Given the description of an element on the screen output the (x, y) to click on. 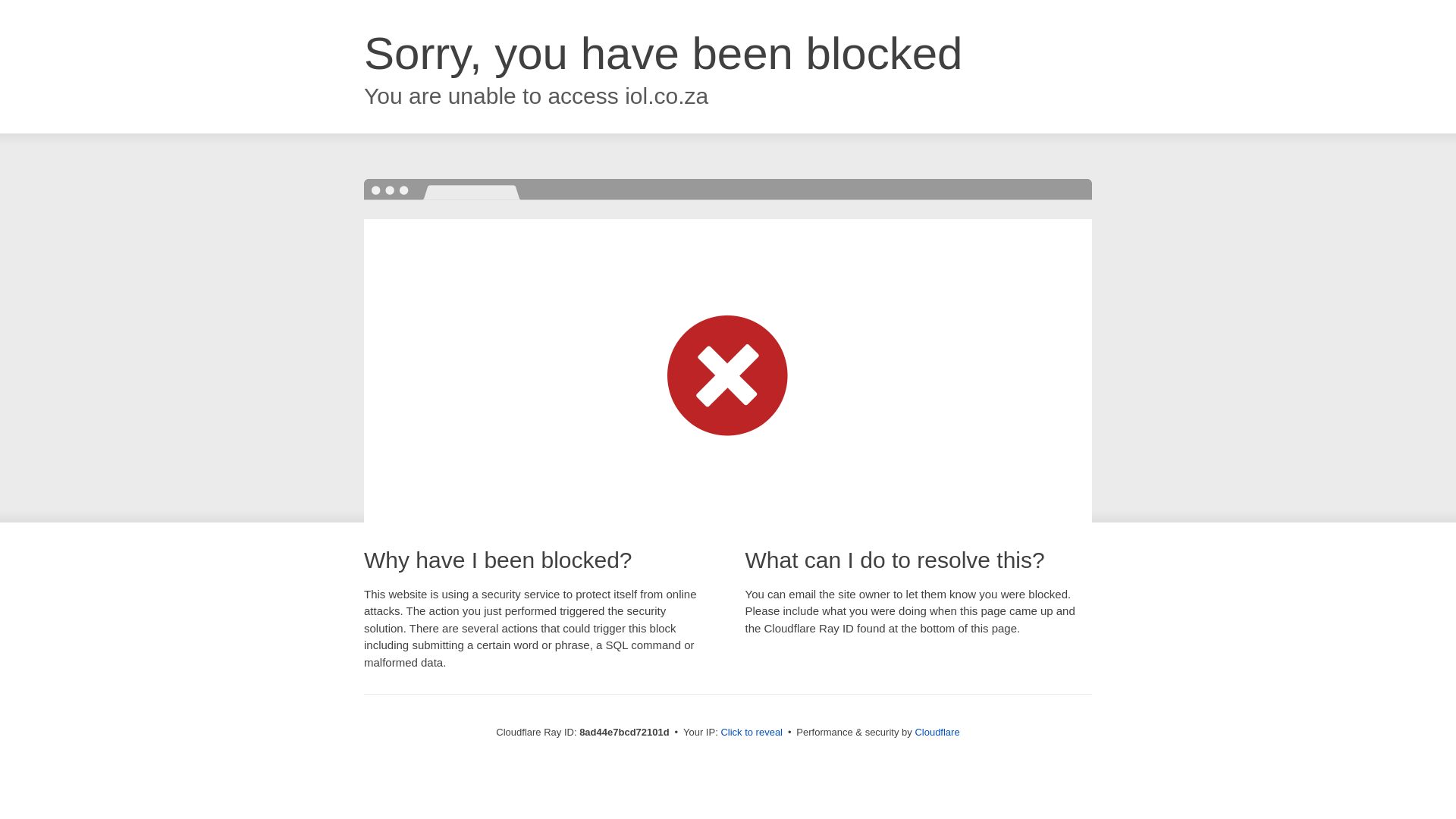
Click to reveal (751, 732)
Cloudflare (936, 731)
